Given the description of an element on the screen output the (x, y) to click on. 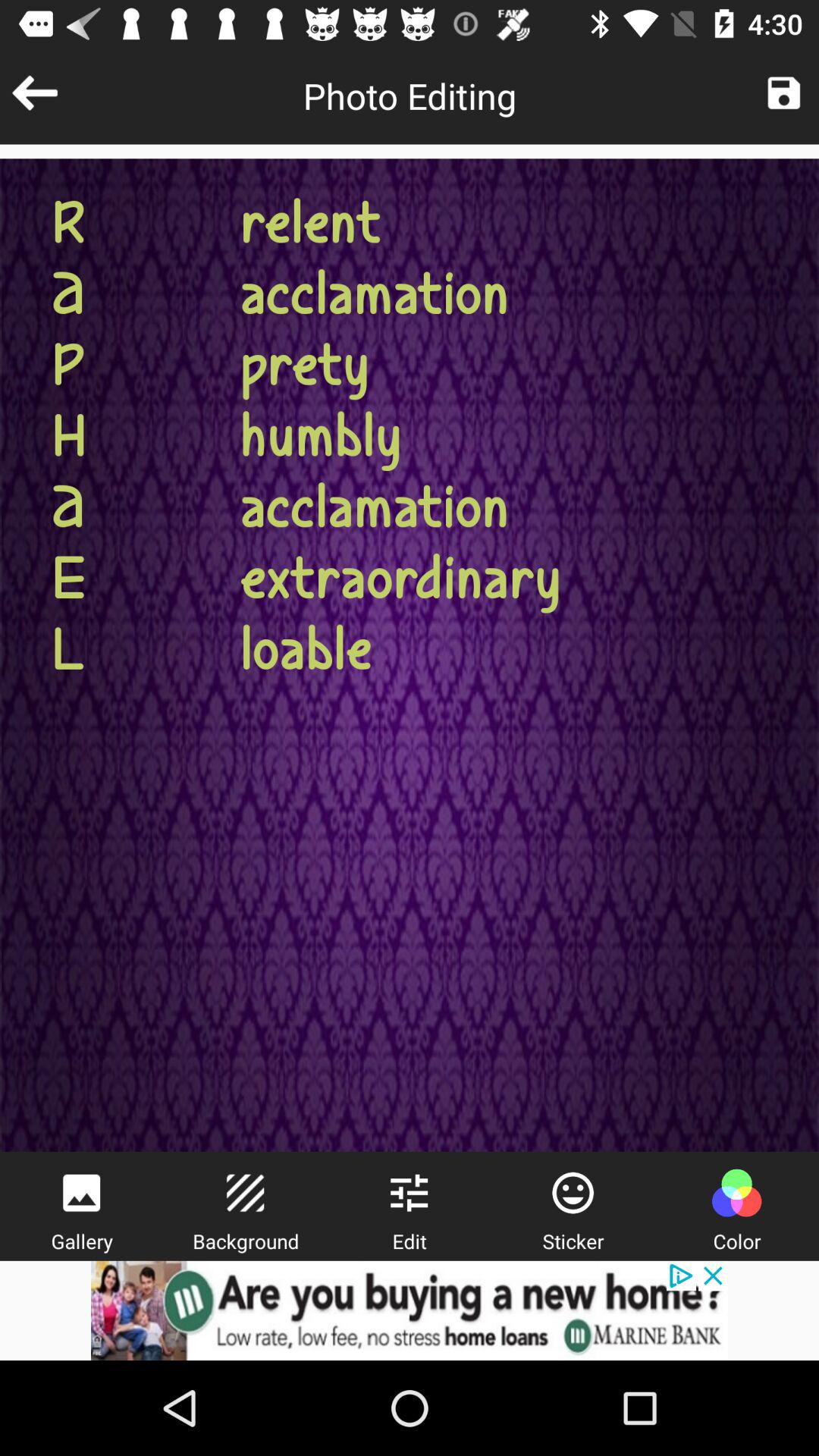
go back (34, 92)
